Given the description of an element on the screen output the (x, y) to click on. 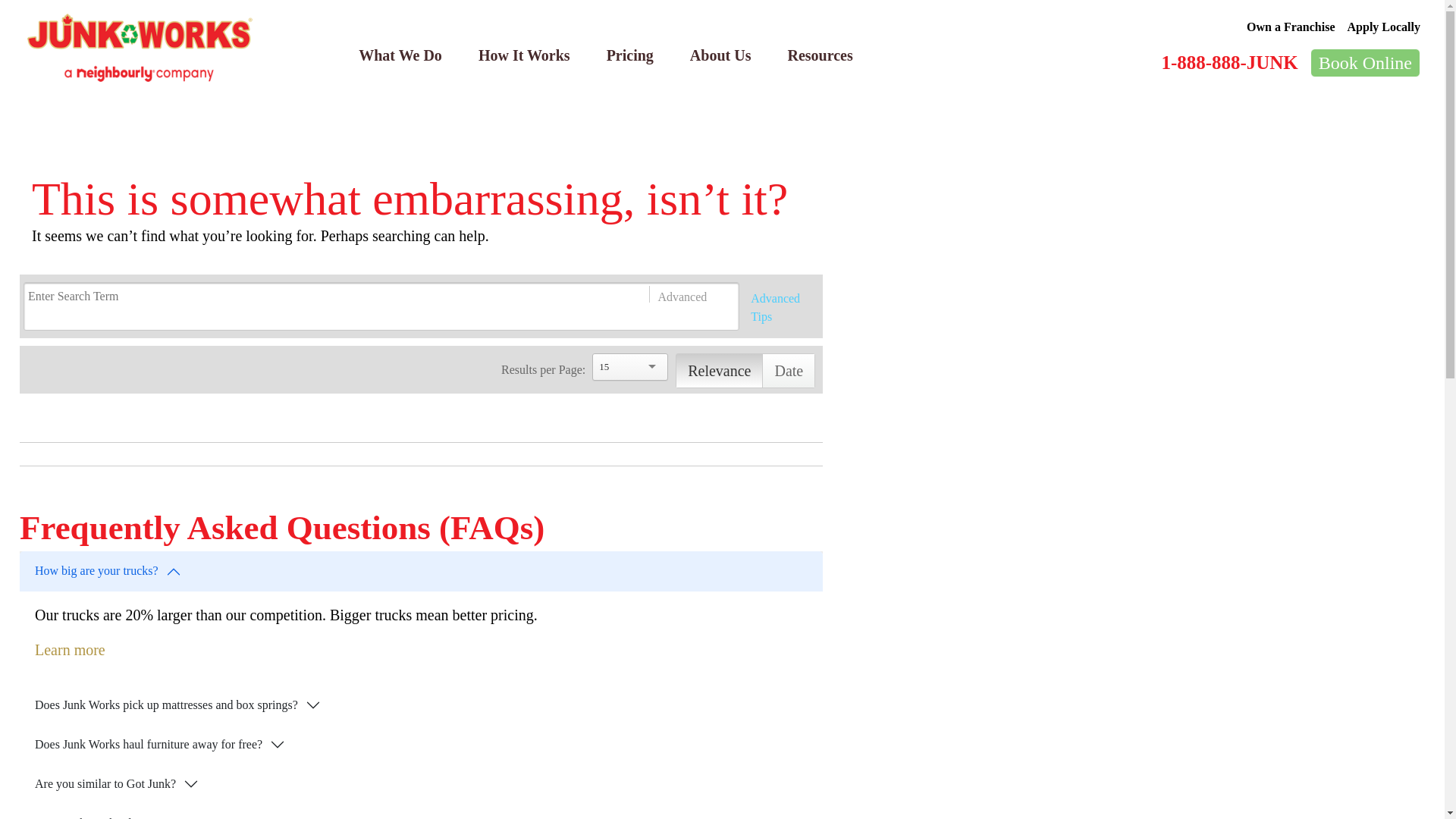
Pricing (629, 54)
About Us (720, 54)
Resources (819, 54)
1-888-888-JUNK (1228, 62)
Book Online (1365, 62)
Own a Franchise (1290, 27)
How It Works (524, 54)
What We Do (400, 54)
